Given the description of an element on the screen output the (x, y) to click on. 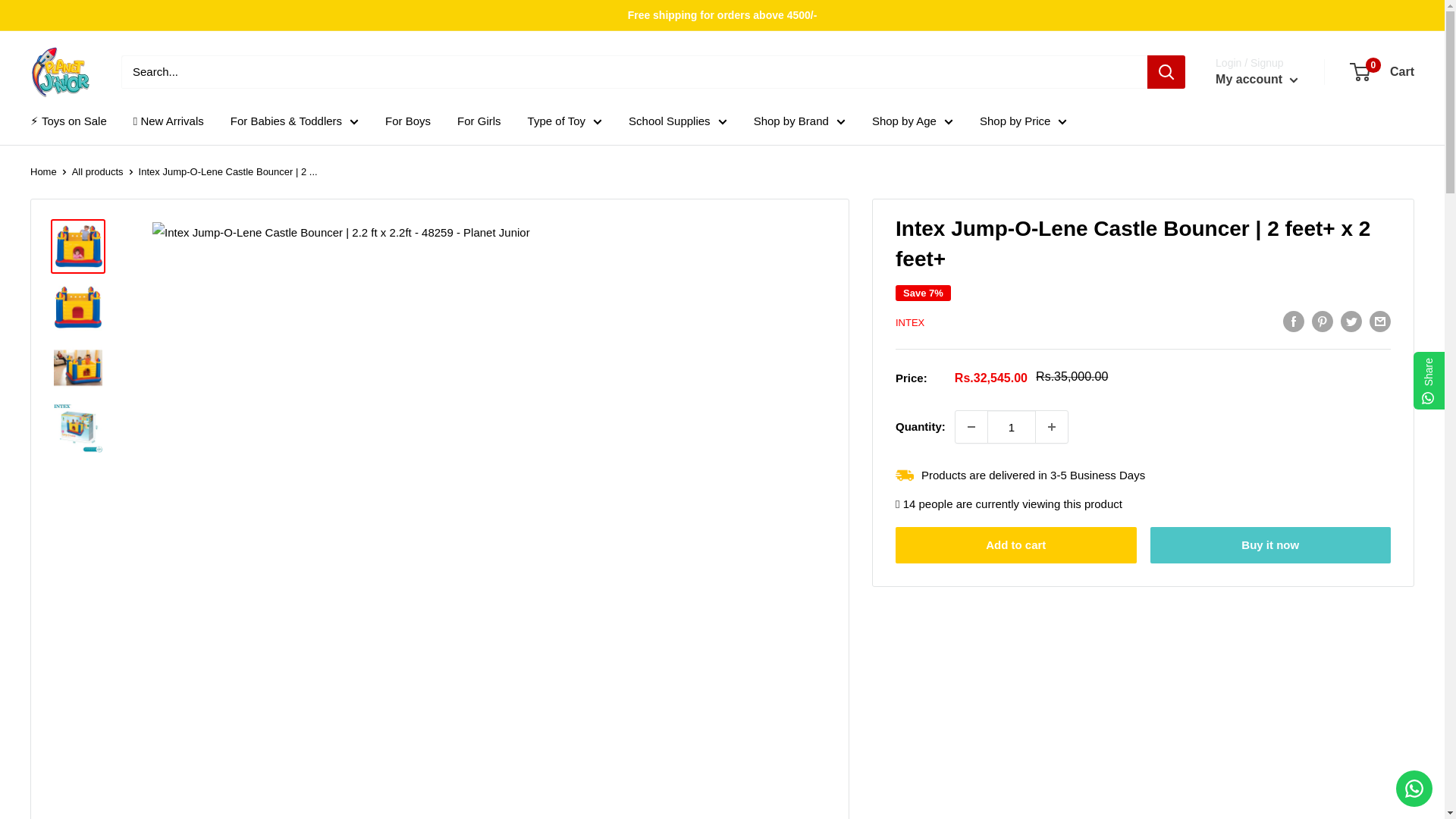
Decrease quantity by 1 (971, 427)
1 (1011, 427)
Increase quantity by 1 (1051, 427)
